Given the description of an element on the screen output the (x, y) to click on. 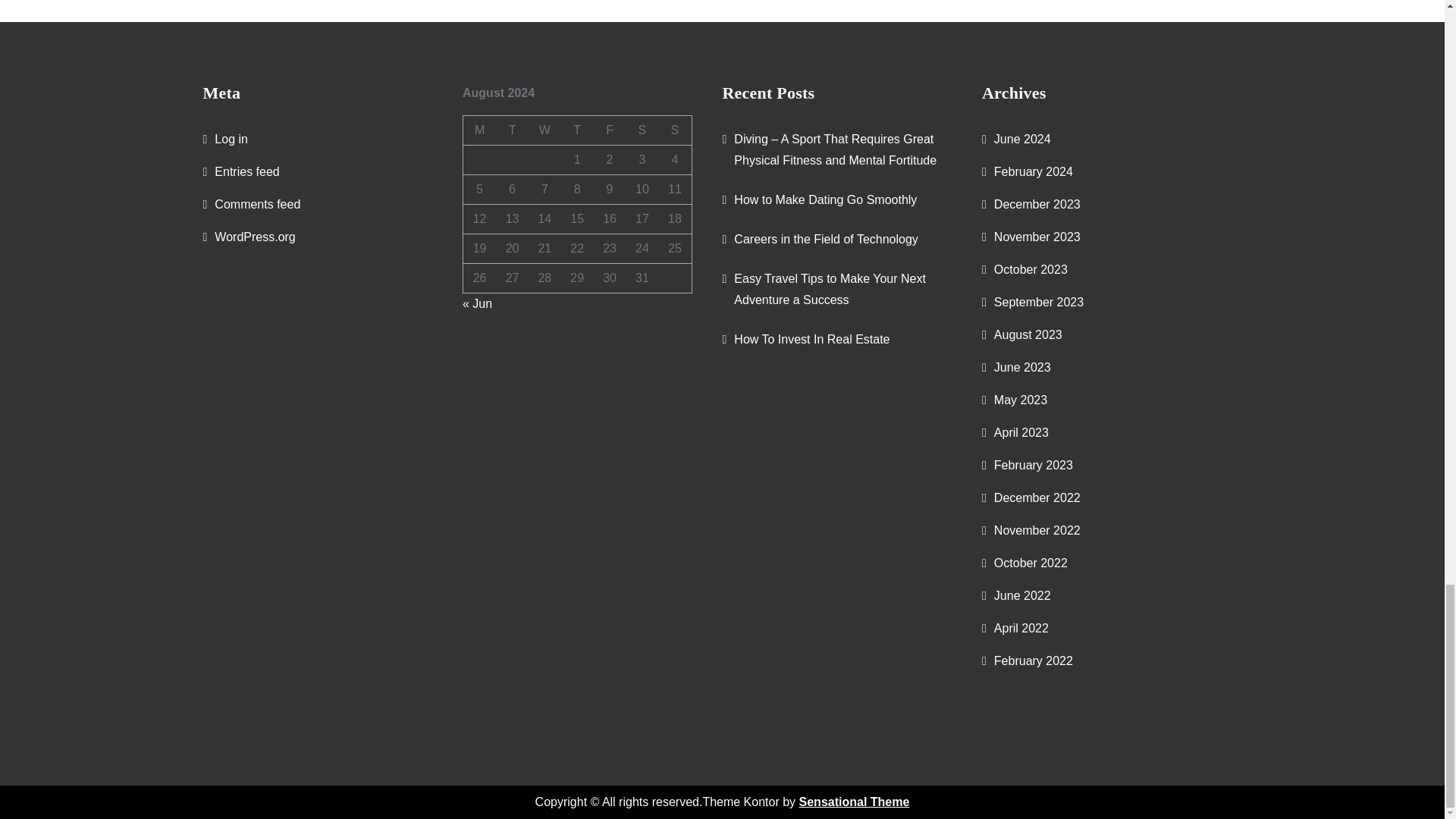
Friday (610, 130)
Thursday (577, 130)
Tuesday (512, 130)
Monday (479, 130)
Wednesday (544, 130)
Saturday (642, 130)
Sunday (674, 130)
